Given the description of an element on the screen output the (x, y) to click on. 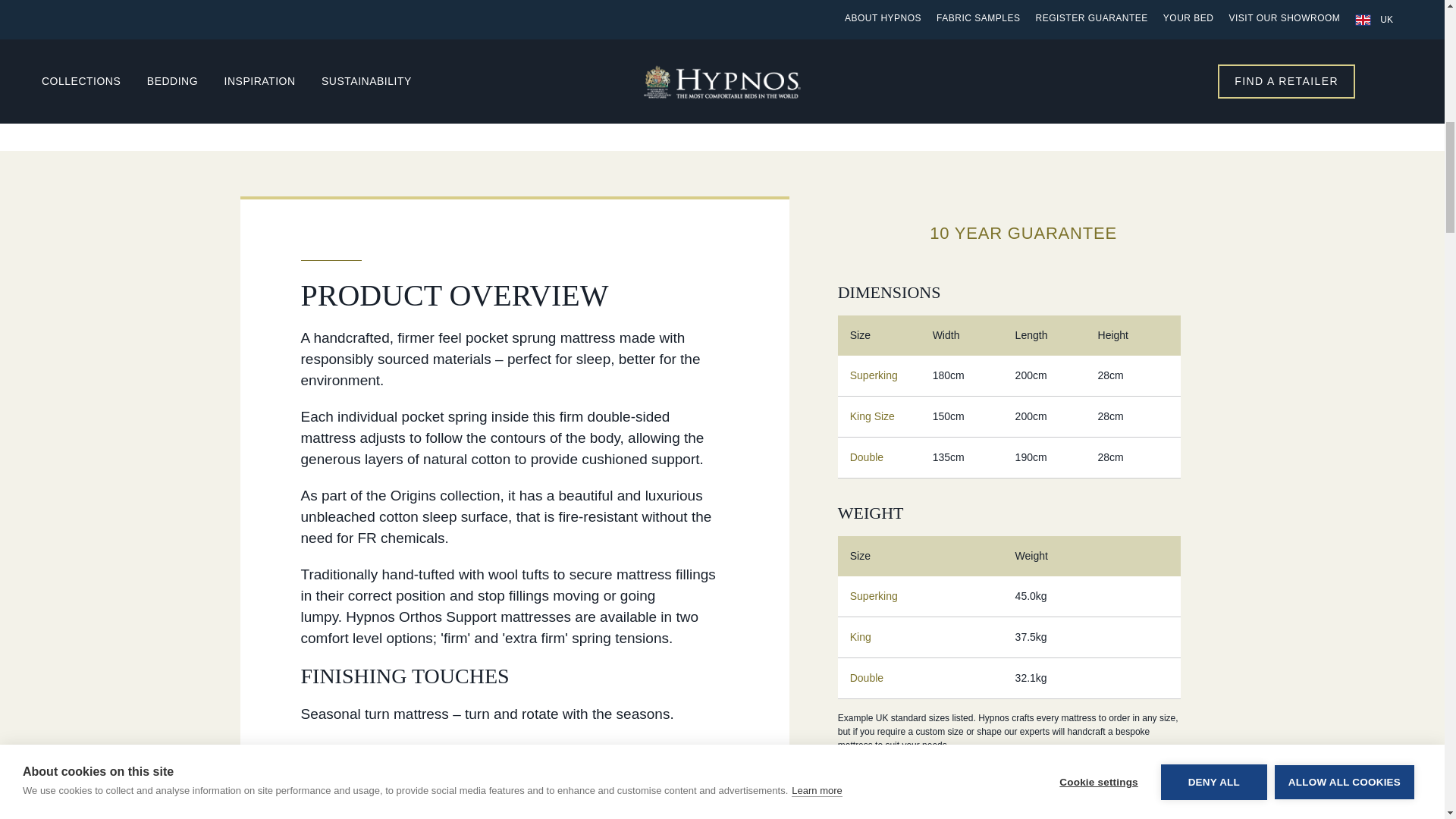
ALLOW ALL COOKIES (1344, 5)
DENY ALL (1213, 14)
Cookie settings (1098, 20)
Learn more (816, 42)
